Given the description of an element on the screen output the (x, y) to click on. 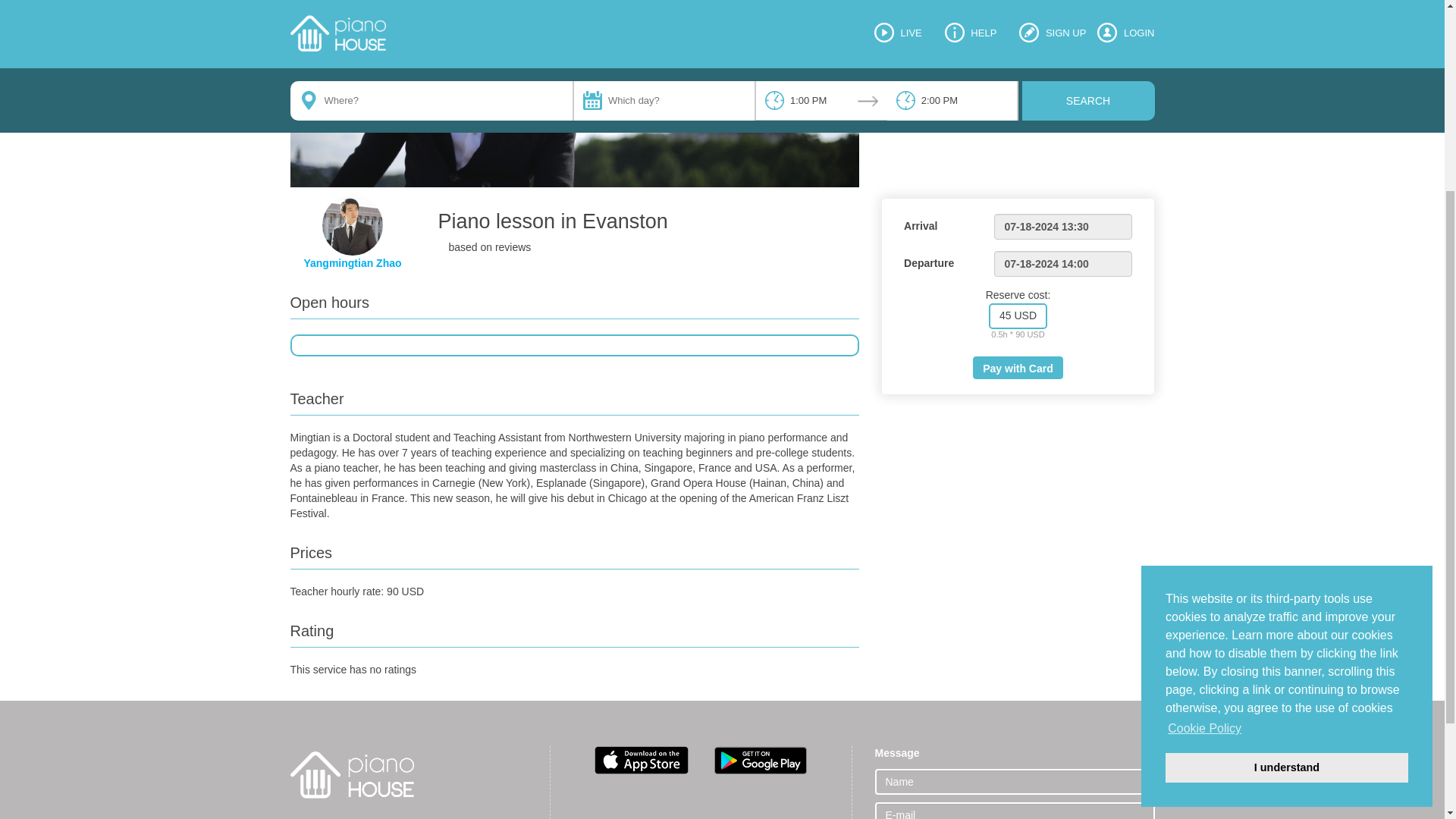
07-18-2024 14:00 (1062, 263)
07-18-2024 13:30 (1062, 226)
Cookie Policy (1204, 451)
Pay with Card (1017, 367)
Pay with Card (1017, 367)
I understand (1286, 490)
Yangmingtian Zhao (351, 263)
